Given the description of an element on the screen output the (x, y) to click on. 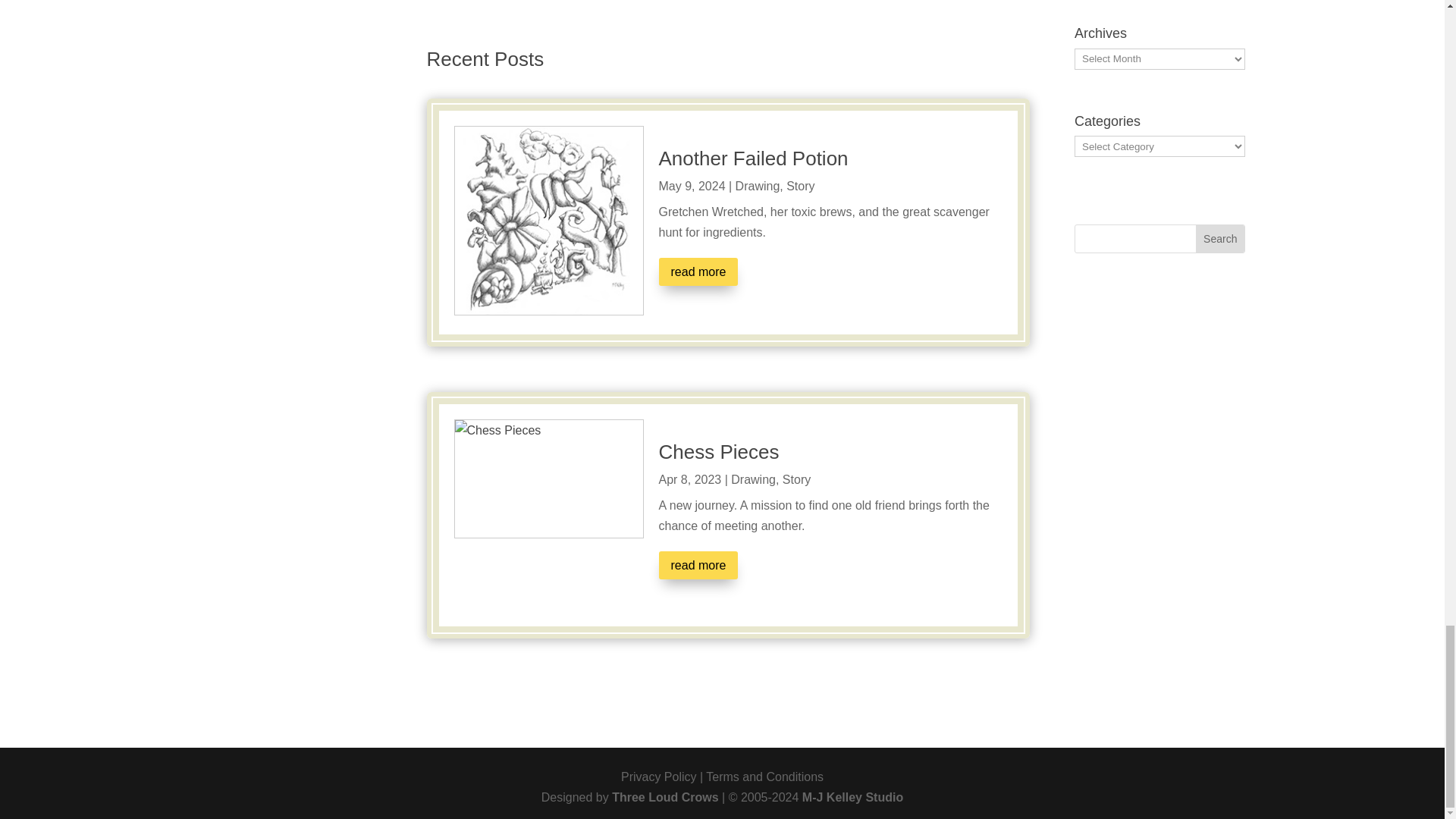
Follow on Facebook (1232, 288)
read more (698, 271)
Three Loud Crows (664, 797)
Story (796, 479)
Story (799, 185)
Terms and Conditions (765, 776)
Drawing (757, 185)
Another Failed Potion (752, 158)
Search (1219, 238)
Search (1219, 238)
read more (698, 565)
M-J Kelley Studio (852, 797)
Privacy Policy (659, 776)
Chess Pieces (718, 451)
Follow on Instagram (1202, 288)
